Given the description of an element on the screen output the (x, y) to click on. 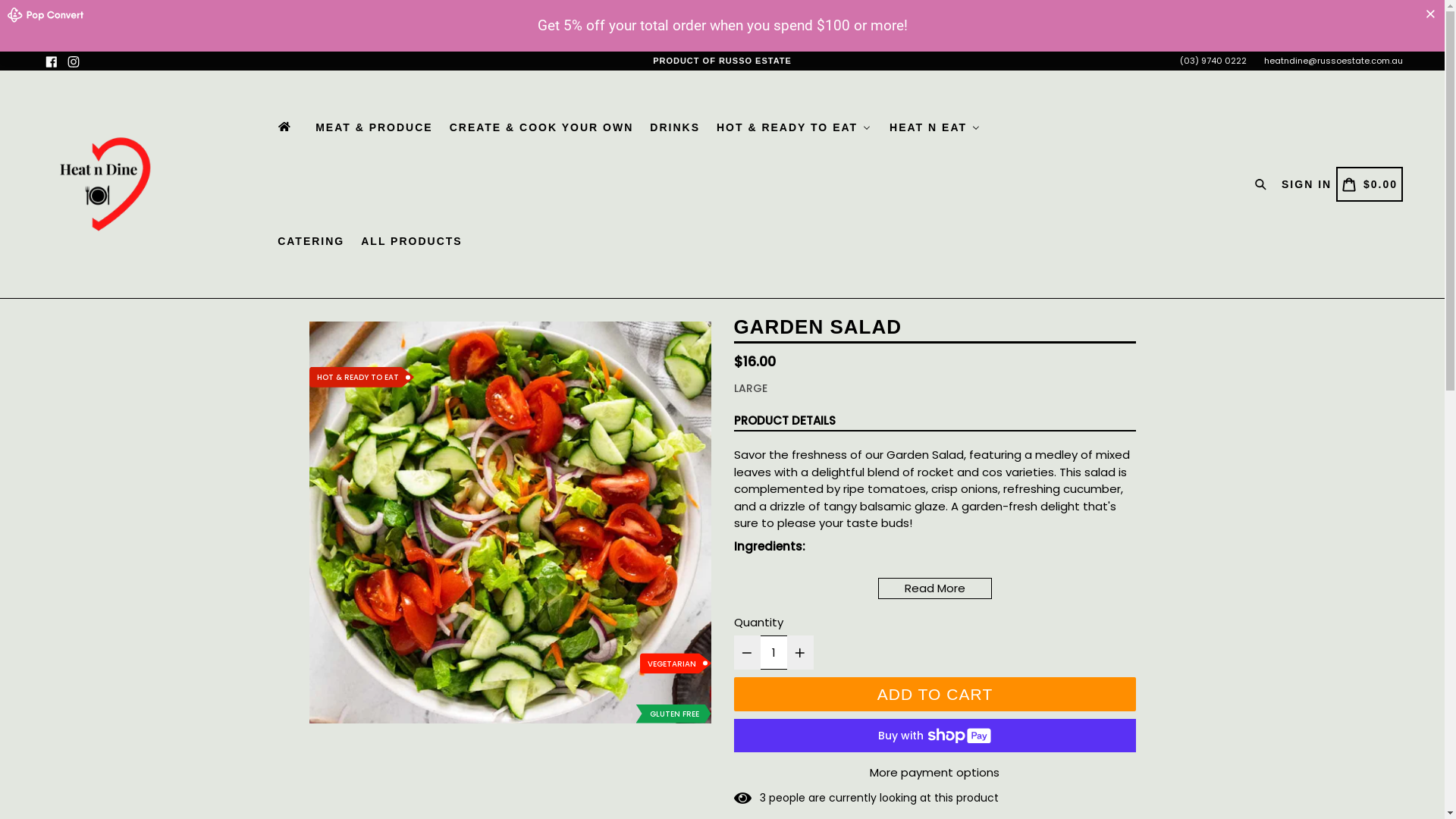
HOT & READY TO EAT Element type: text (793, 75)
SIGN IN Element type: text (1306, 183)
heatndine@russoestate.com.au Element type: text (1333, 9)
(03) 9740 0222 Element type: text (1212, 9)
CATERING Element type: text (309, 241)
Read More Element type: text (934, 588)
CART
CART
$0.00 Element type: text (1369, 183)
Facebook Element type: text (51, 9)
HEAT N EAT Element type: text (934, 75)
Instagram Element type: text (73, 9)
CREATE & COOK YOUR OWN Element type: text (540, 75)
Search Element type: text (1263, 183)
More payment options Element type: text (934, 772)
ADD TO CART Element type: text (934, 694)
ALL PRODUCTS Element type: text (410, 241)
MEAT & PRODUCE Element type: text (373, 75)
DRINKS Element type: text (673, 75)
PRODUCT DETAILS Element type: text (784, 421)
